Given the description of an element on the screen output the (x, y) to click on. 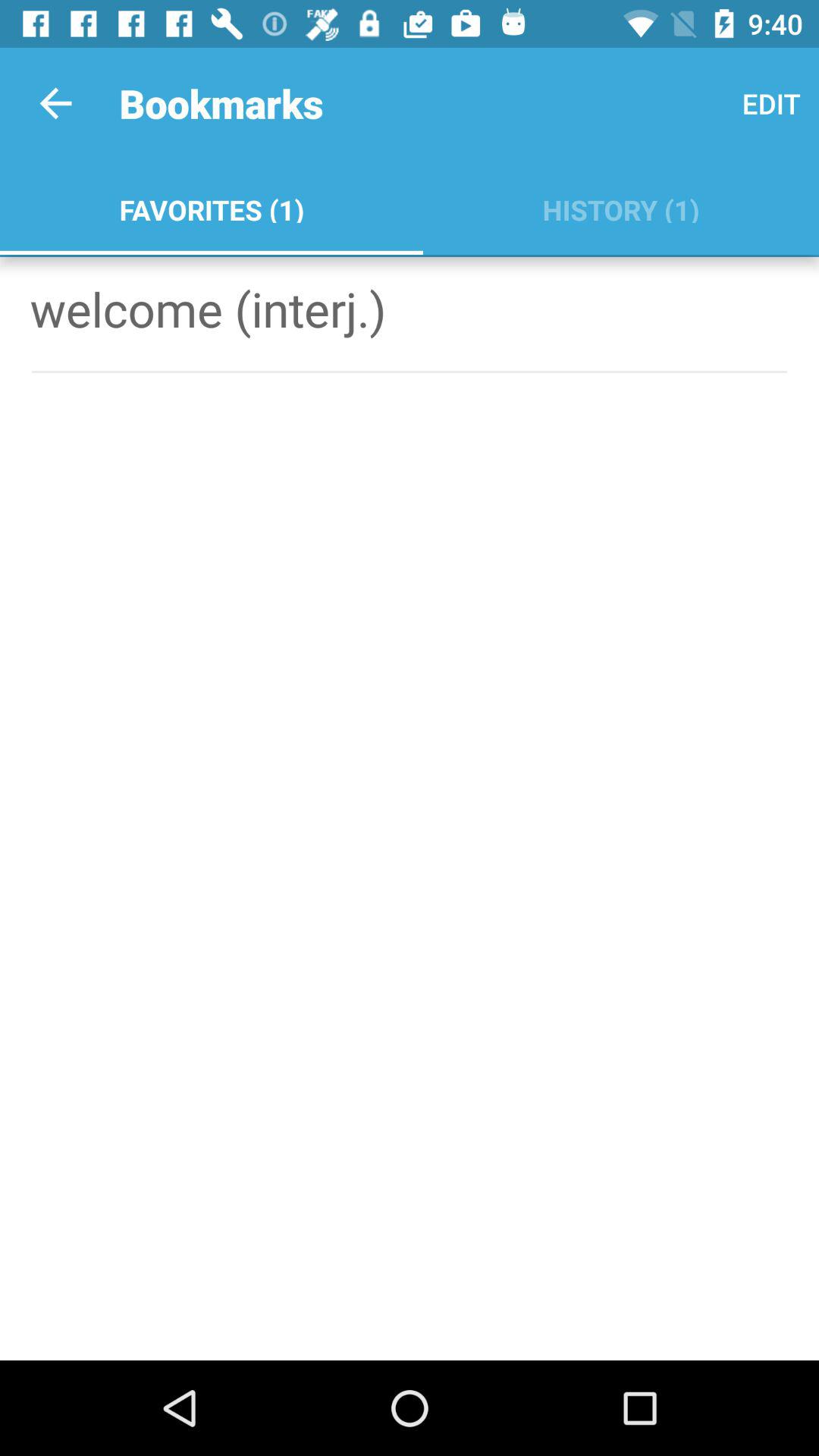
press favorites (1) app (211, 206)
